Given the description of an element on the screen output the (x, y) to click on. 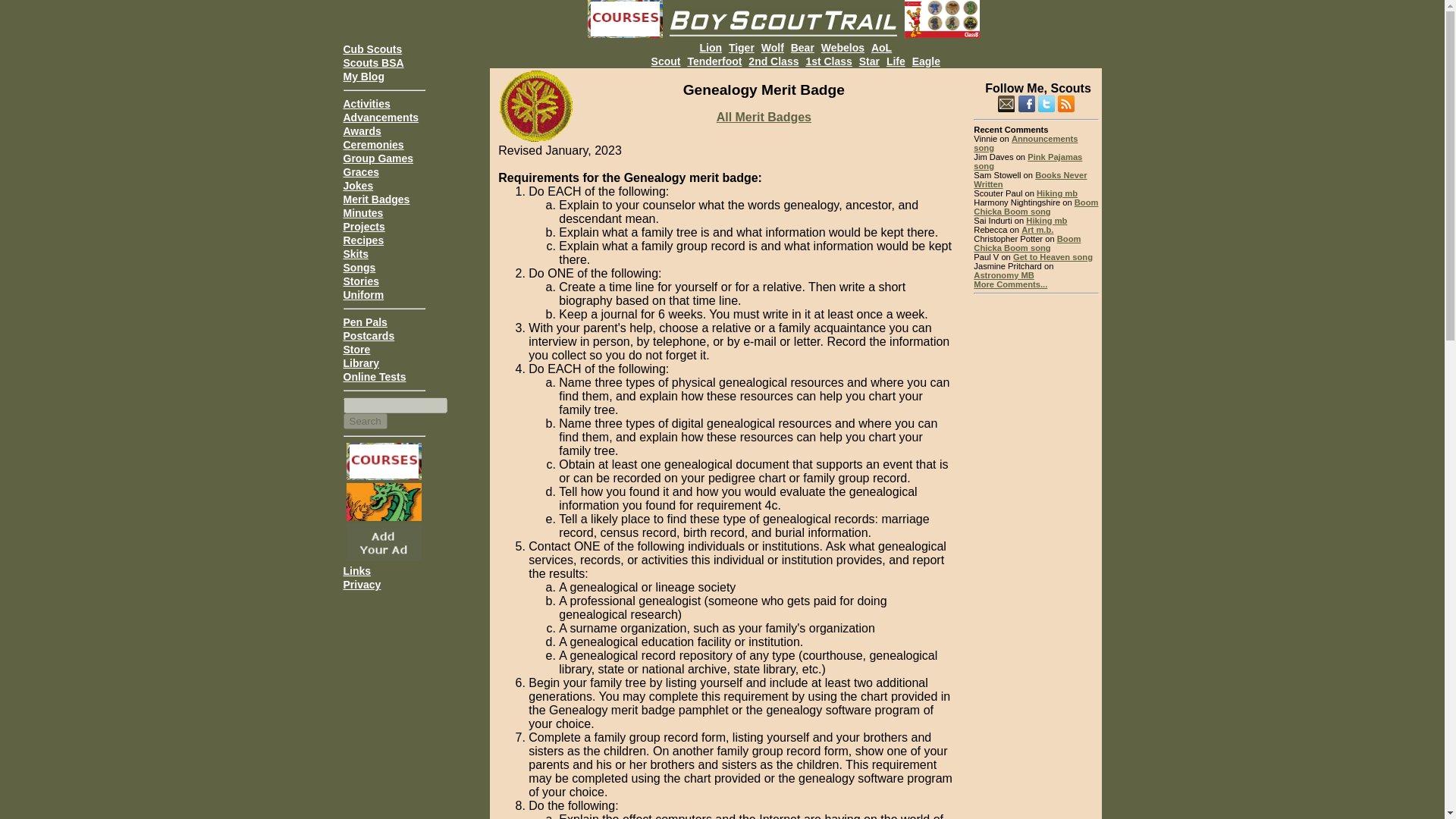
Group Games (377, 158)
Links (356, 571)
Postcards (368, 336)
1st Class (828, 60)
Merit Badges (375, 199)
Stories (360, 281)
Webelos (842, 46)
Advancements (380, 117)
Online Tests (374, 377)
Minutes (362, 213)
Email (1005, 103)
Privacy (361, 584)
Projects (363, 226)
Wolf (772, 46)
Songs (358, 267)
